Given the description of an element on the screen output the (x, y) to click on. 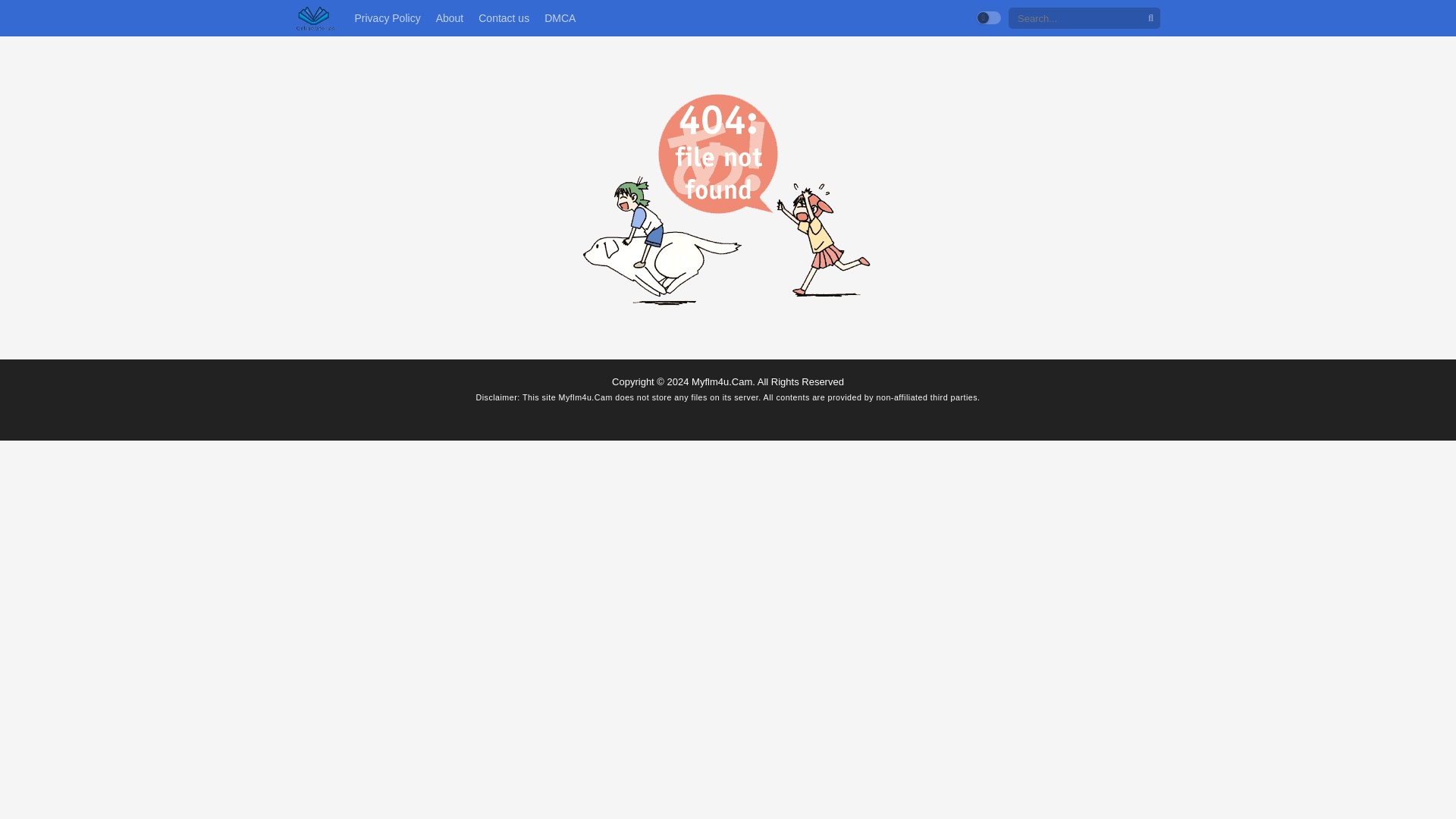
Privacy Policy (386, 18)
Contact us (503, 18)
About (449, 18)
DMCA (559, 18)
Myflm4u.Cam - Stories Reading Hub (315, 17)
